Given the description of an element on the screen output the (x, y) to click on. 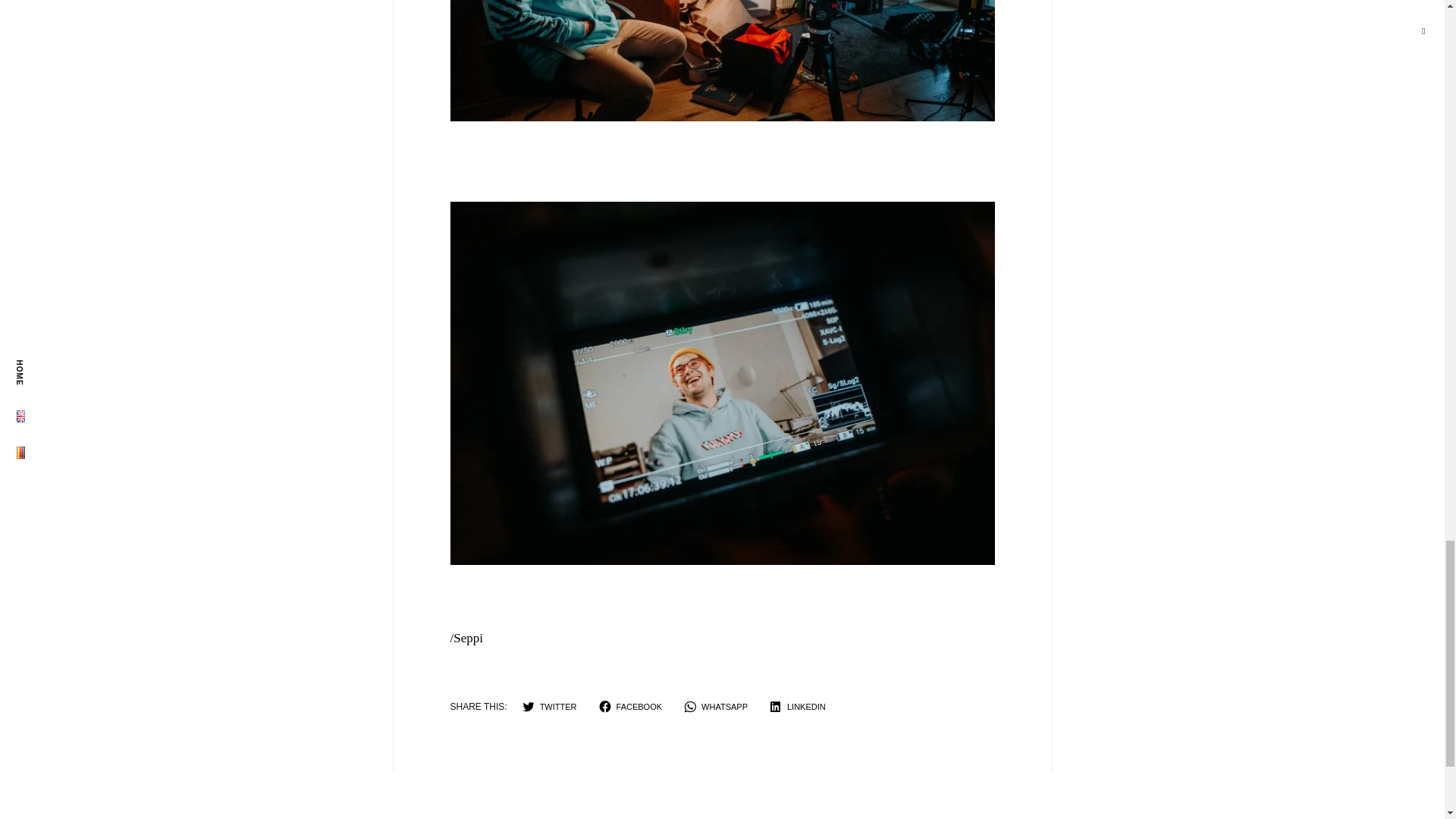
Click to share on LinkedIn (797, 706)
FACEBOOK (631, 706)
LINKEDIN (797, 706)
WHATSAPP (716, 706)
TWITTER (550, 706)
Click to share on Twitter (550, 706)
Click to share on Facebook (631, 706)
Click to share on WhatsApp (716, 706)
